Given the description of an element on the screen output the (x, y) to click on. 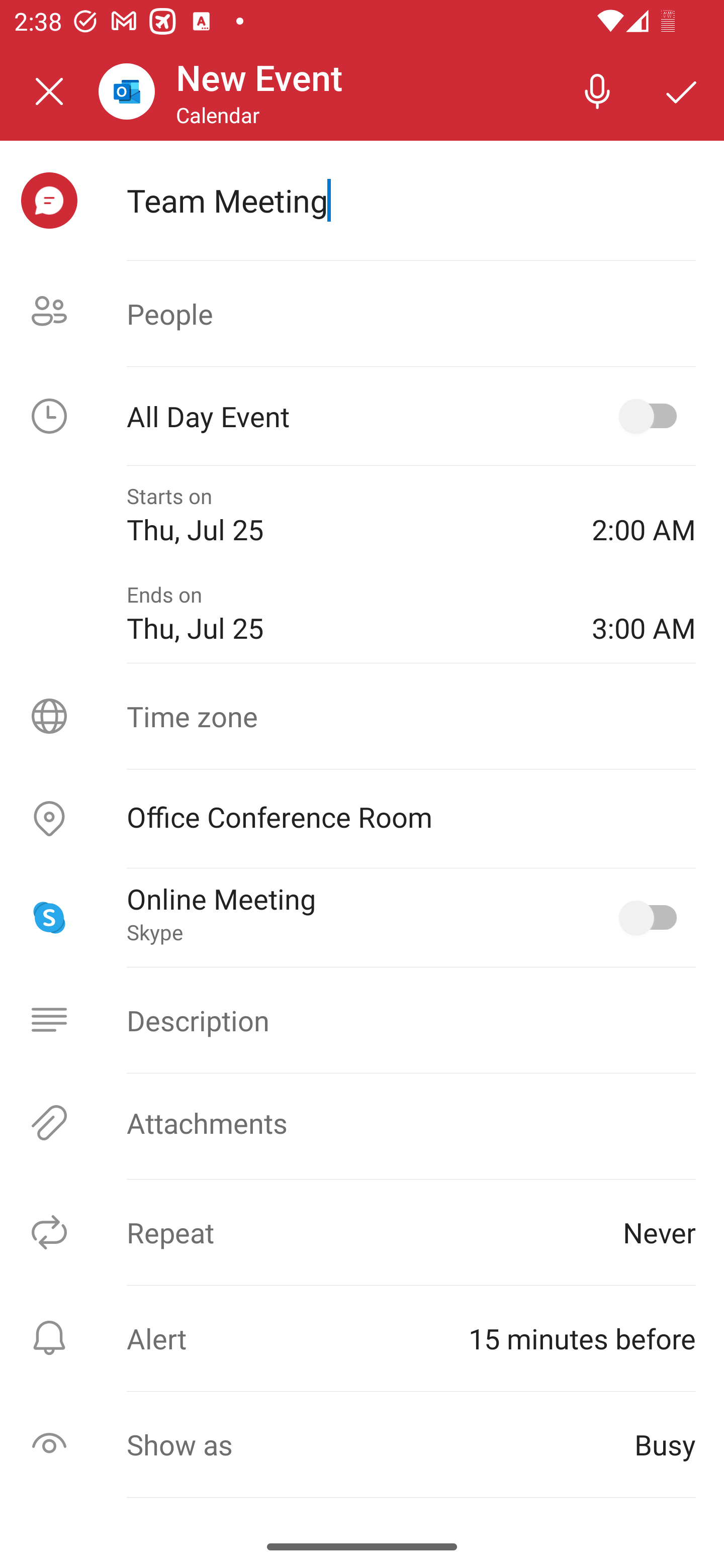
Close (49, 91)
Save (681, 90)
Team Meeting (410, 200)
meeting selected, event icon picker (48, 200)
People (362, 313)
All Day Event (362, 415)
Starts on Thu, Jul 25 (344, 514)
2:00 AM (643, 514)
Ends on Thu, Jul 25 (344, 613)
3:00 AM (643, 613)
Time zone (362, 715)
Online Meeting, Skype selected (651, 917)
Description (362, 1019)
Attachments (362, 1122)
Repeat Never (362, 1232)
Alert ⁨15 minutes before (362, 1337)
Show as Busy (362, 1444)
